Given the description of an element on the screen output the (x, y) to click on. 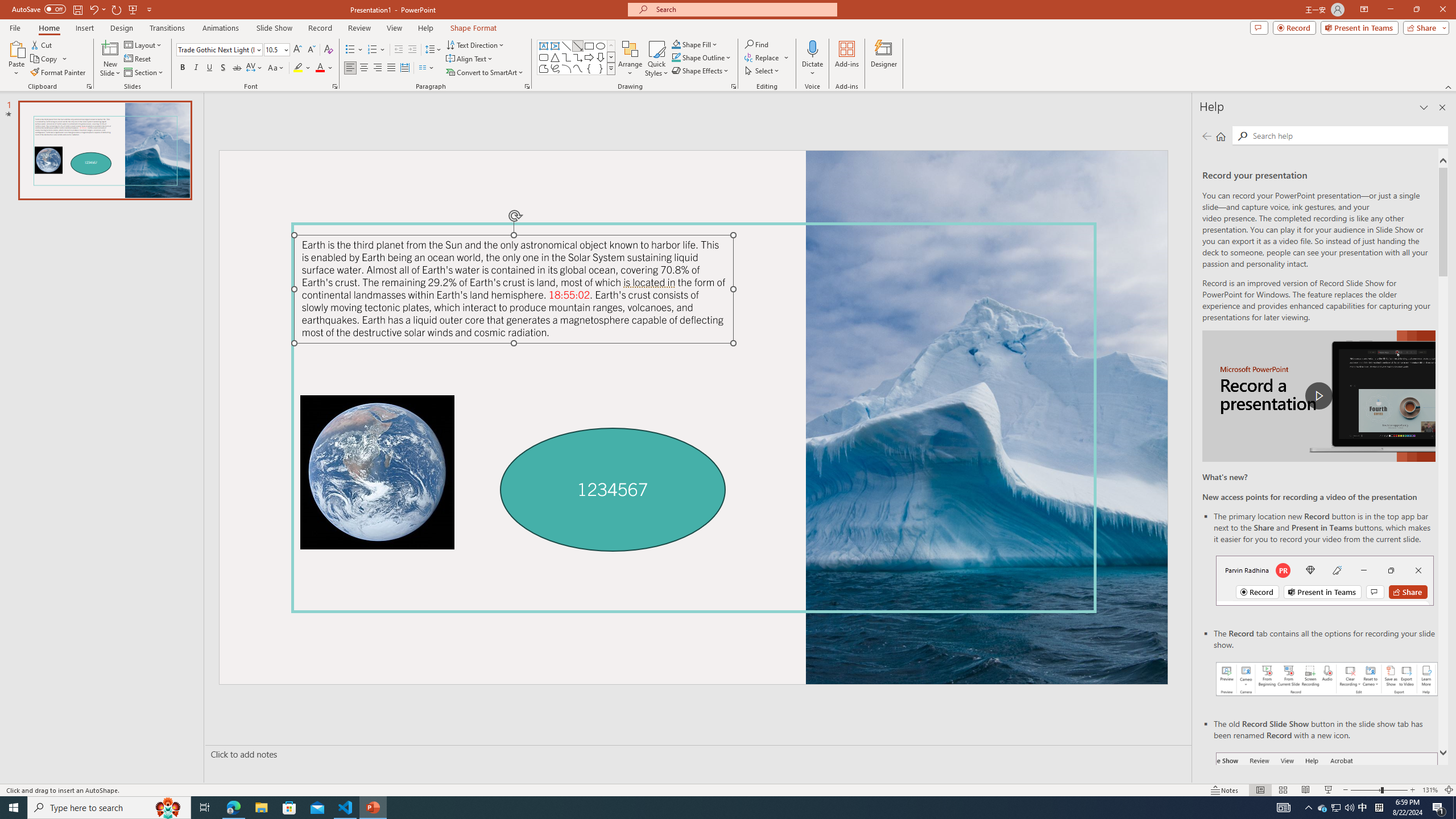
Shape Fill Aqua, Accent 2 (675, 44)
